Given the description of an element on the screen output the (x, y) to click on. 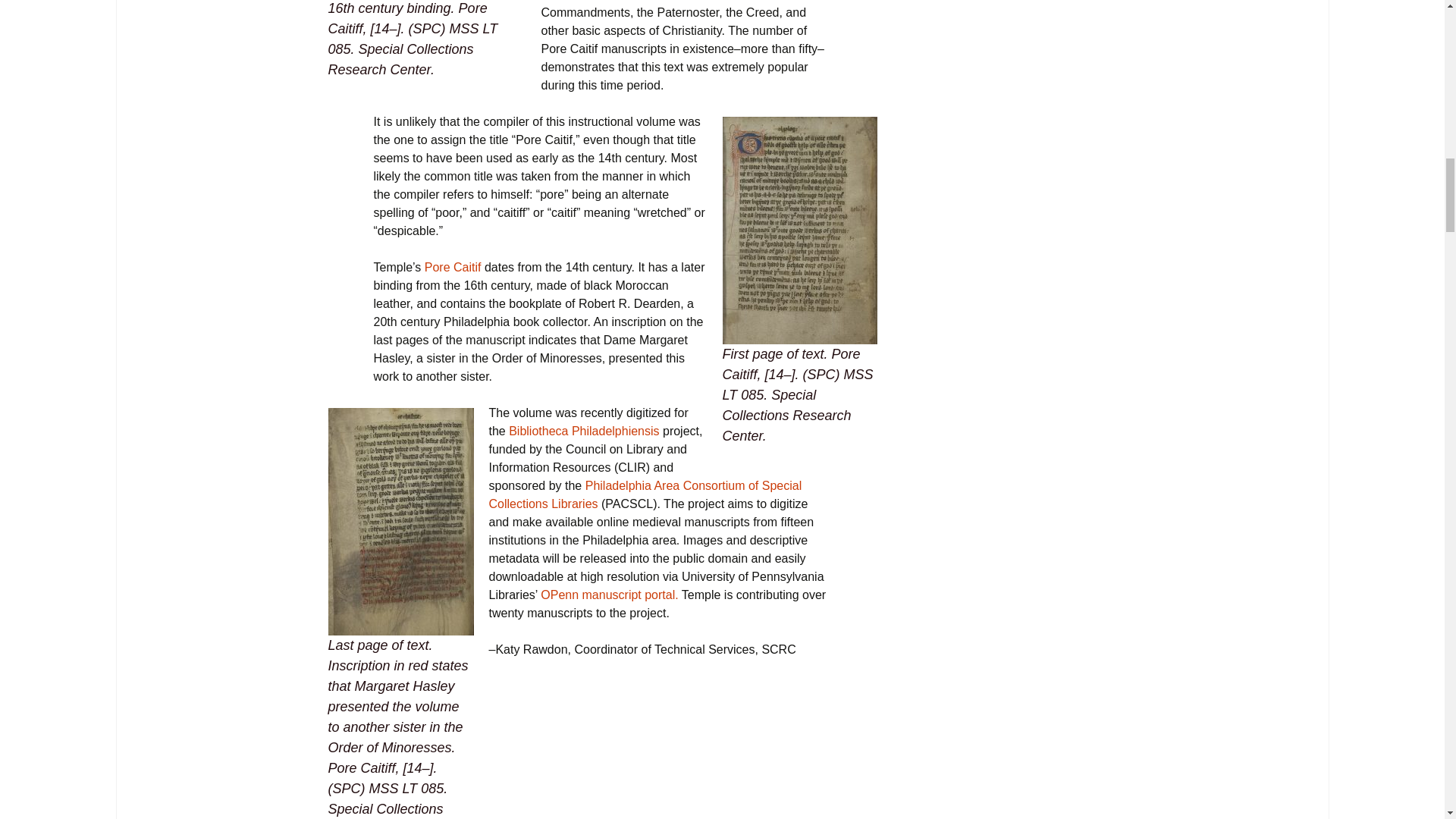
OPenn manuscript portal. (609, 594)
Pore Caitif (453, 267)
Bibliotheca Philadelphiensis (583, 431)
